Given the description of an element on the screen output the (x, y) to click on. 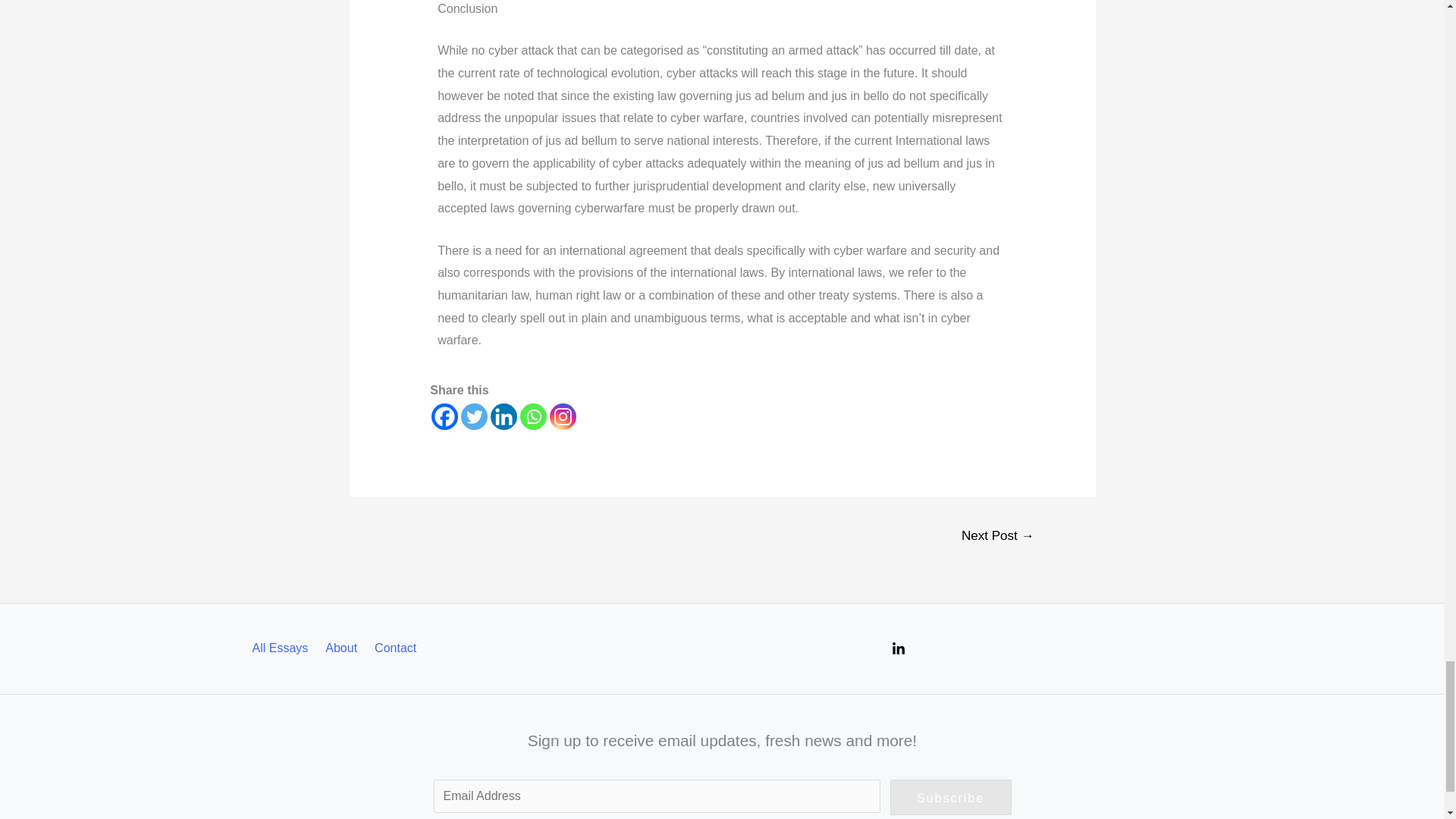
Twitter (474, 416)
Facebook (444, 416)
Subscribe (950, 797)
Whatsapp (533, 416)
Contact (398, 648)
About (343, 648)
Linkedin (503, 416)
Instagram (563, 416)
All Essays (284, 648)
